Given the description of an element on the screen output the (x, y) to click on. 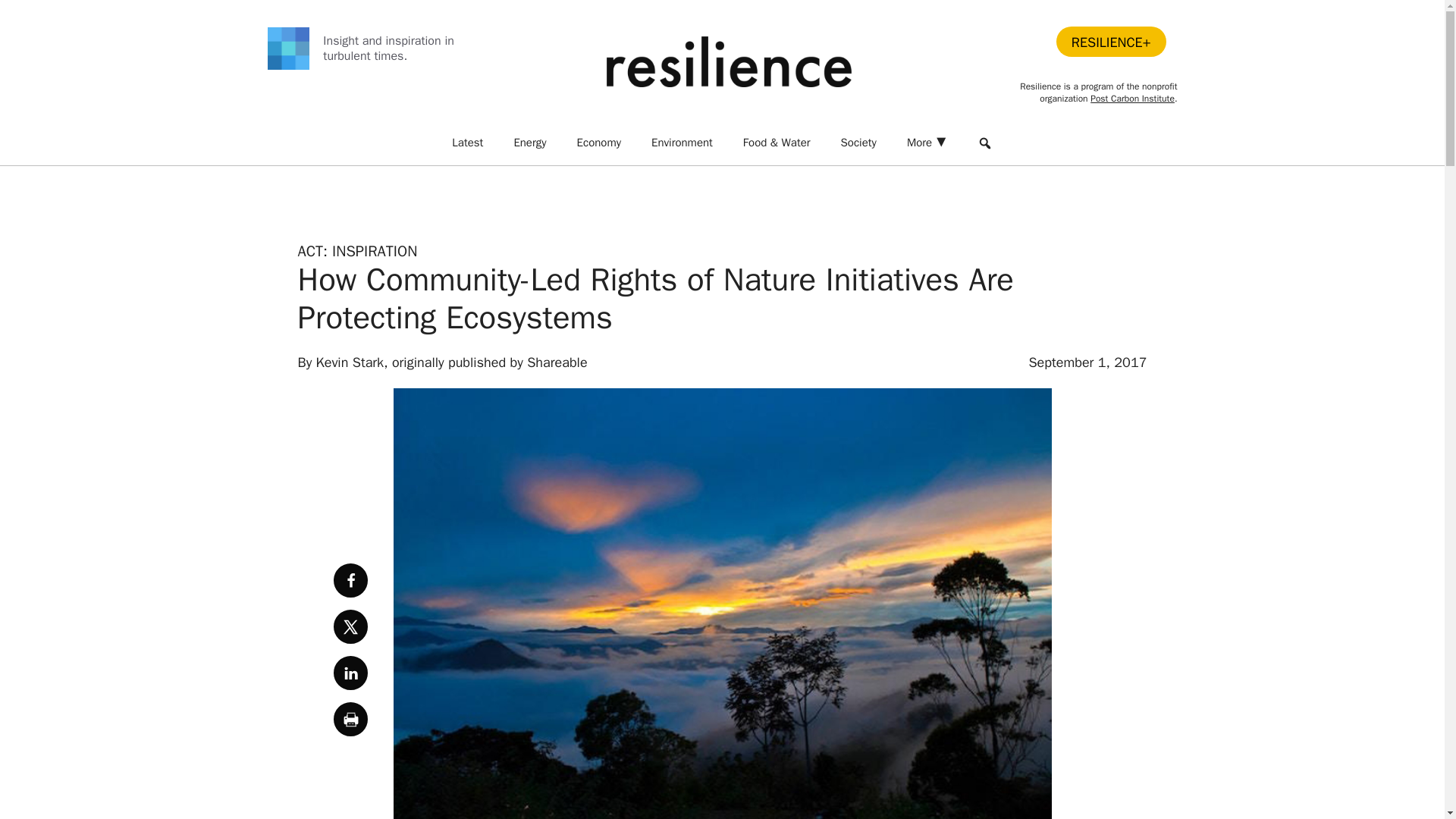
Post Carbon Institute (1132, 98)
Print this webpage (350, 718)
Share on X (350, 626)
Share on Facebook (350, 580)
Share on LinkedIn (350, 673)
